Given the description of an element on the screen output the (x, y) to click on. 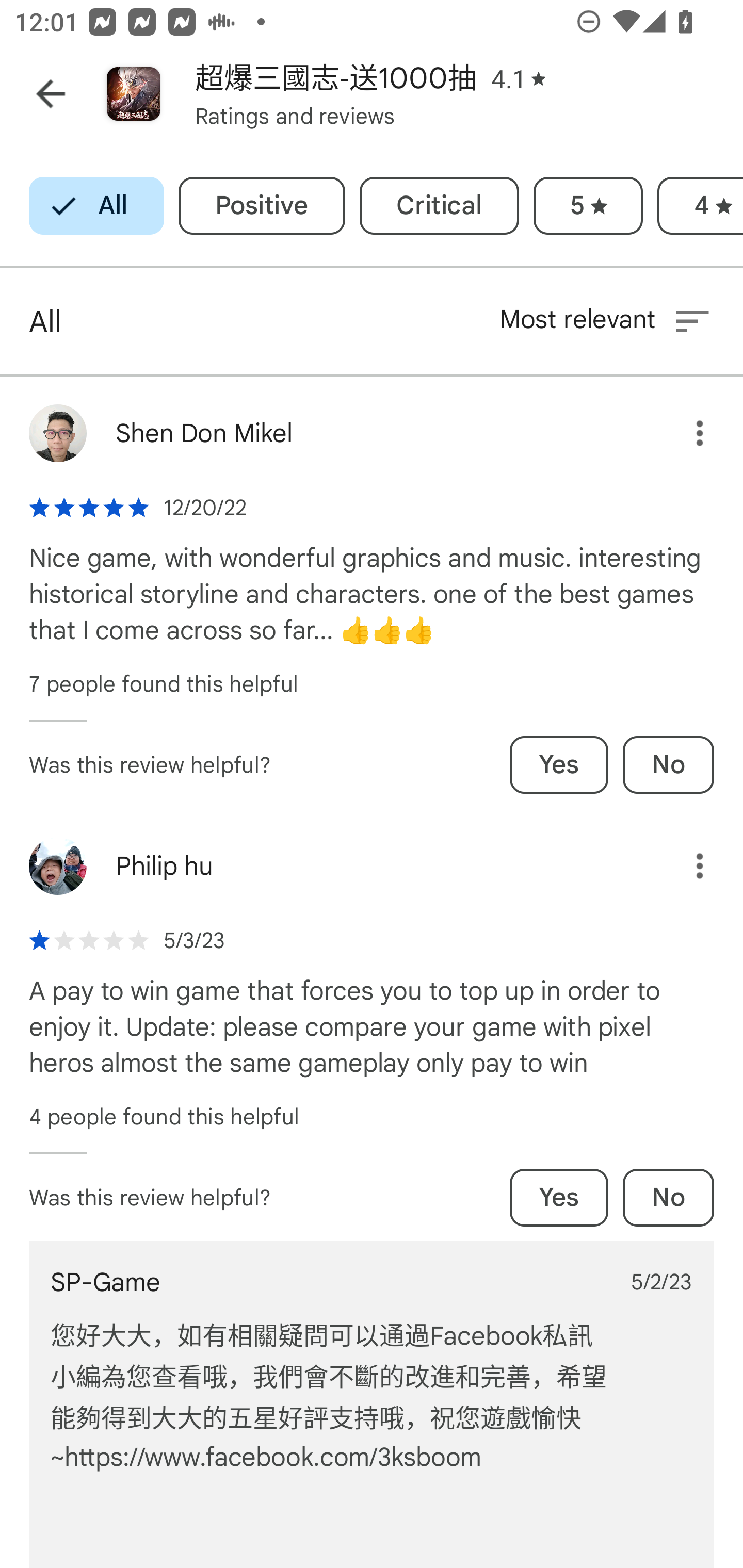
Navigate up (50, 93)
All (96, 206)
Positive (261, 206)
Critical (439, 206)
5 5 Stars (587, 206)
4 4 Stars (700, 206)
Most relevant (606, 321)
Options (685, 433)
Yes (558, 764)
No (668, 764)
Options (685, 866)
Yes (558, 1197)
No (668, 1197)
